Given the description of an element on the screen output the (x, y) to click on. 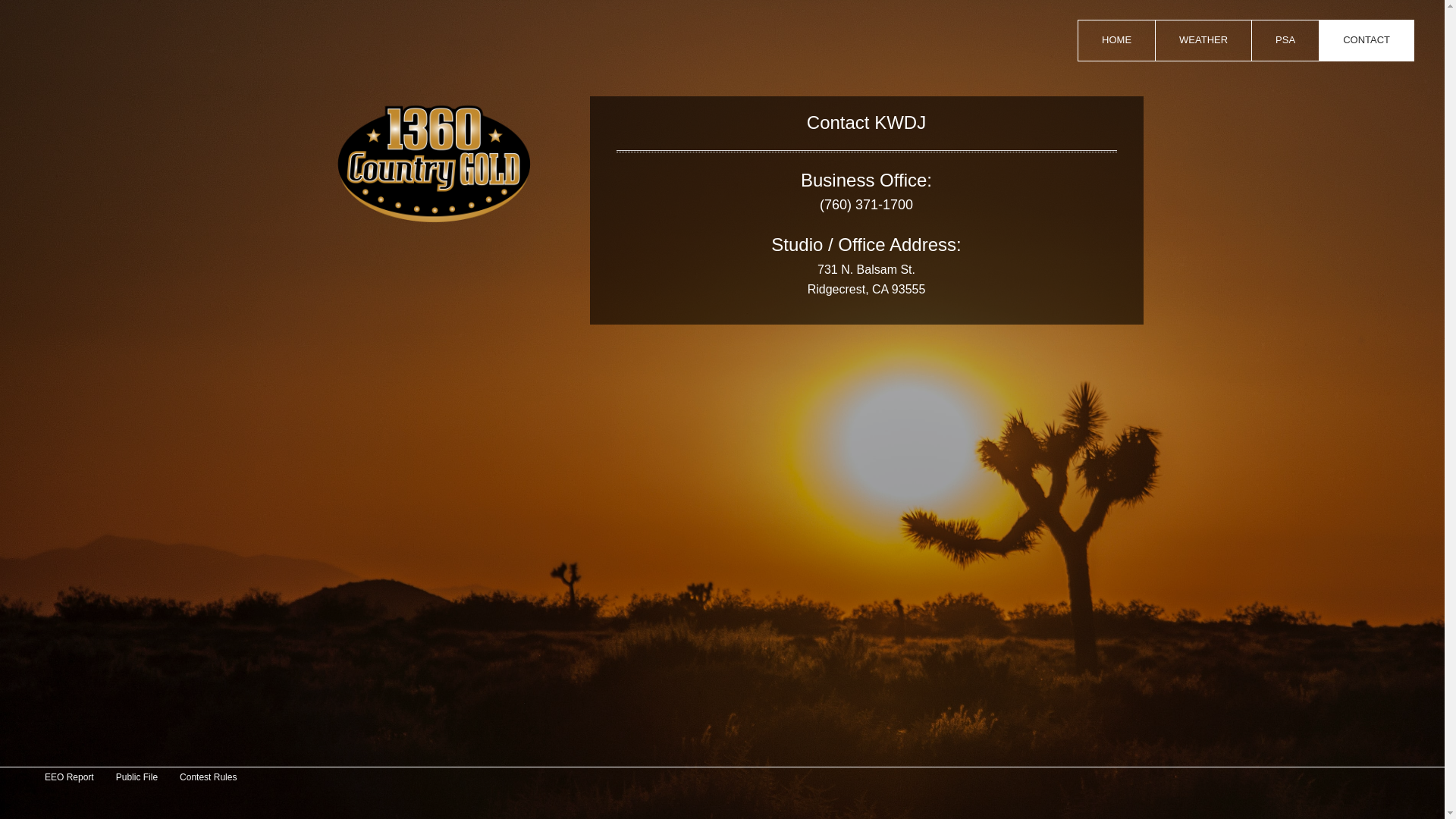
CONTACT Element type: text (1366, 40)
WEATHER Element type: text (1203, 40)
(760) 371-1700 Element type: text (866, 204)
Contest Rules Element type: text (200, 777)
HOME Element type: text (1116, 40)
EEO Report Element type: text (62, 777)
PSA Element type: text (1285, 40)
Public File Element type: text (129, 777)
